Given the description of an element on the screen output the (x, y) to click on. 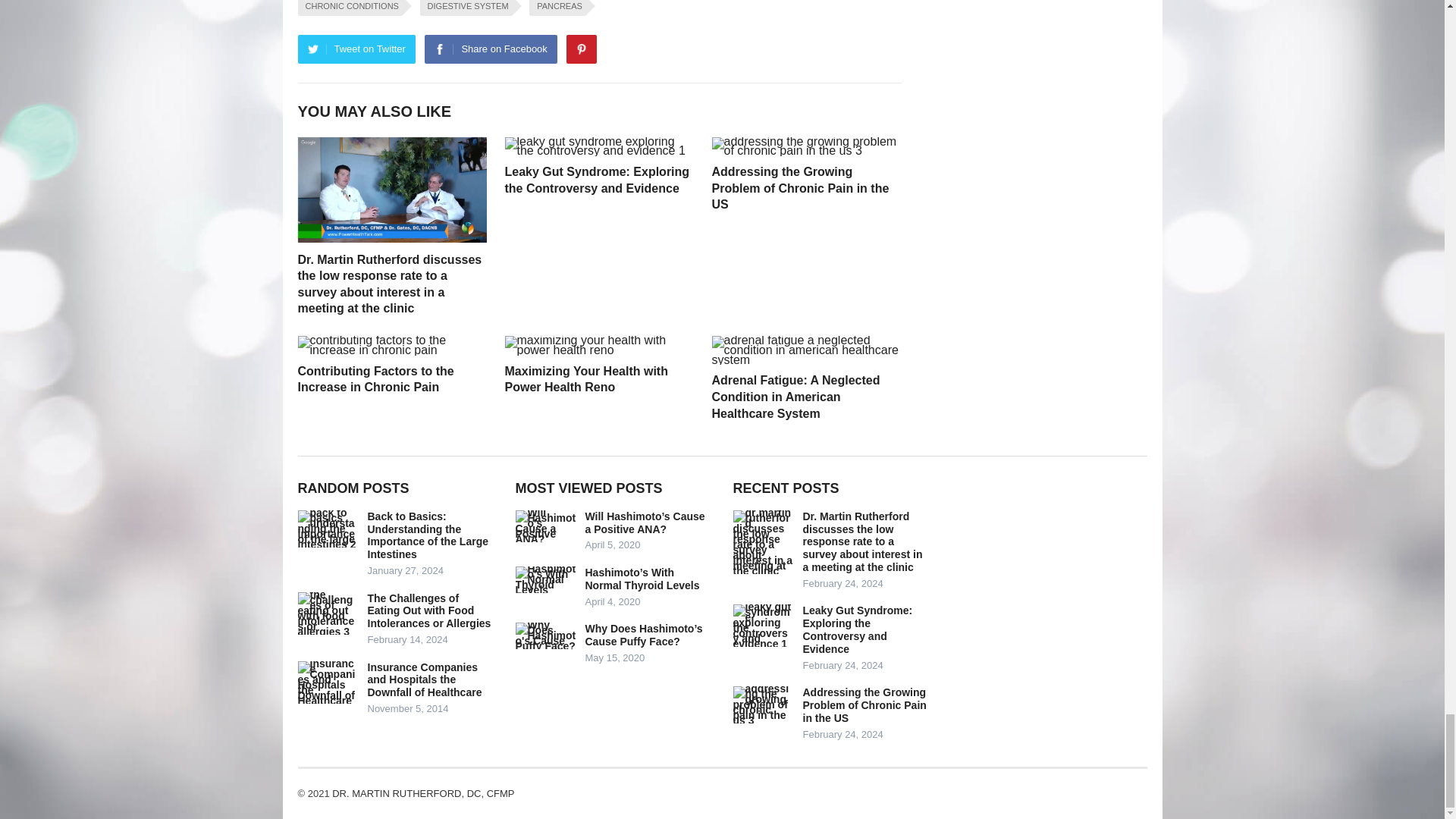
Leaky Gut Syndrome: Exploring the Controversy and Evidence 4 (599, 147)
Leaky Gut Syndrome: Exploring the Controversy and Evidence (597, 179)
Tweet on Twitter (355, 49)
DIGESTIVE SYSTEM (466, 7)
Contributing Factors to the Increase in Chronic Pain 8 (391, 345)
Maximizing Your Health with Power Health Reno 10 (599, 345)
Pinterest (581, 49)
Addressing the Growing Problem of Chronic Pain in the US (799, 187)
Share on Facebook (490, 49)
